Given the description of an element on the screen output the (x, y) to click on. 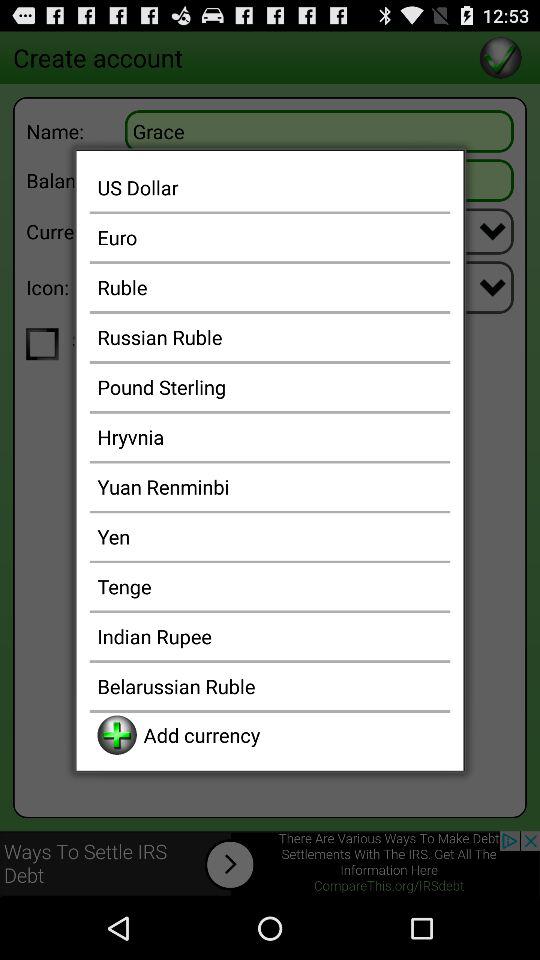
launch yuan renminbi icon (269, 486)
